Given the description of an element on the screen output the (x, y) to click on. 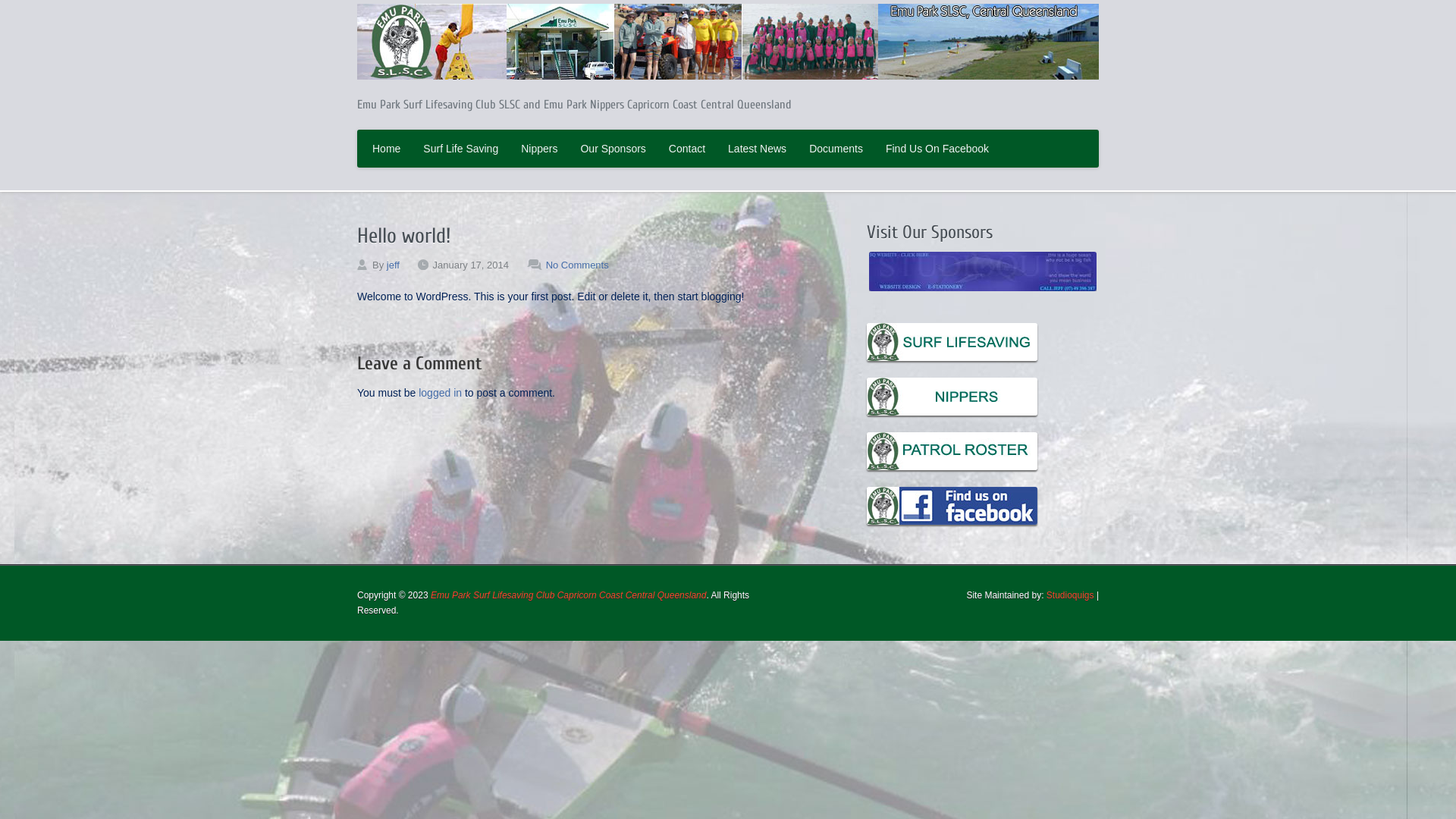
Nippers Element type: text (538, 148)
Hello world! Element type: text (403, 235)
sponsor-02.jpg Element type: hover (982, 271)
No Comments Element type: text (577, 264)
Our Sponsors Element type: text (612, 148)
Find Us On Facebook Element type: text (937, 148)
jeff Element type: text (392, 264)
Documents Element type: text (835, 148)
Surf Life Saving Element type: text (460, 148)
Latest News Element type: text (756, 148)
Studioquigs Element type: text (1070, 594)
Skip to primary content Element type: text (372, 131)
Contact Element type: text (686, 148)
Home Element type: text (385, 148)
logged in Element type: text (439, 392)
